Given the description of an element on the screen output the (x, y) to click on. 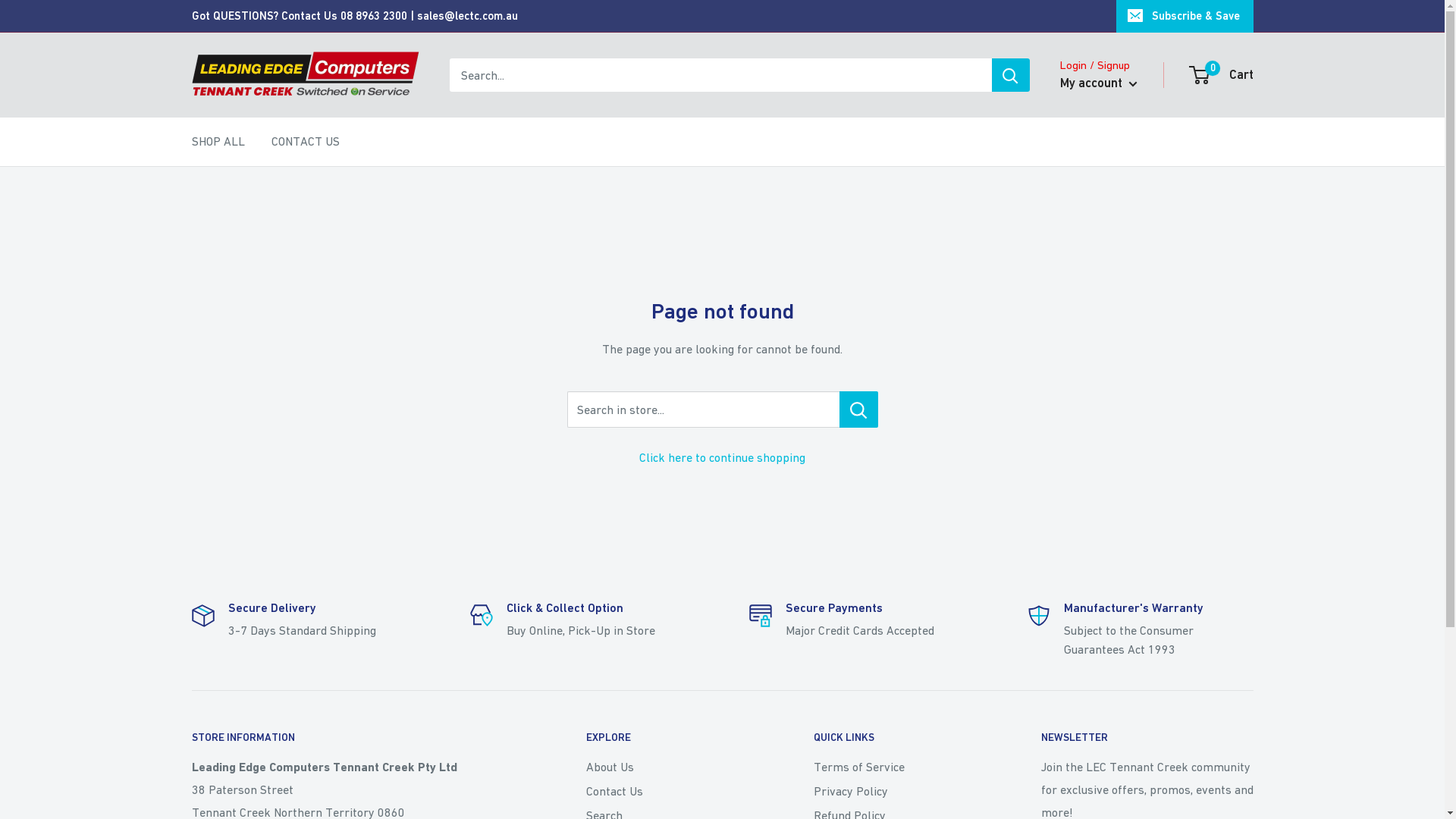
EXPLORE Element type: text (672, 737)
Contact Us Element type: text (672, 790)
0
Cart Element type: text (1221, 74)
CONTACT US Element type: text (305, 141)
SHOP ALL Element type: text (217, 141)
Privacy Policy Element type: text (899, 790)
STORE INFORMATION Element type: text (361, 737)
Click here to continue shopping Element type: text (722, 457)
QUICK LINKS Element type: text (899, 737)
My account Element type: text (1098, 83)
About Us Element type: text (672, 766)
Terms of Service Element type: text (899, 766)
Subscribe & Save Element type: text (1184, 15)
